Given the description of an element on the screen output the (x, y) to click on. 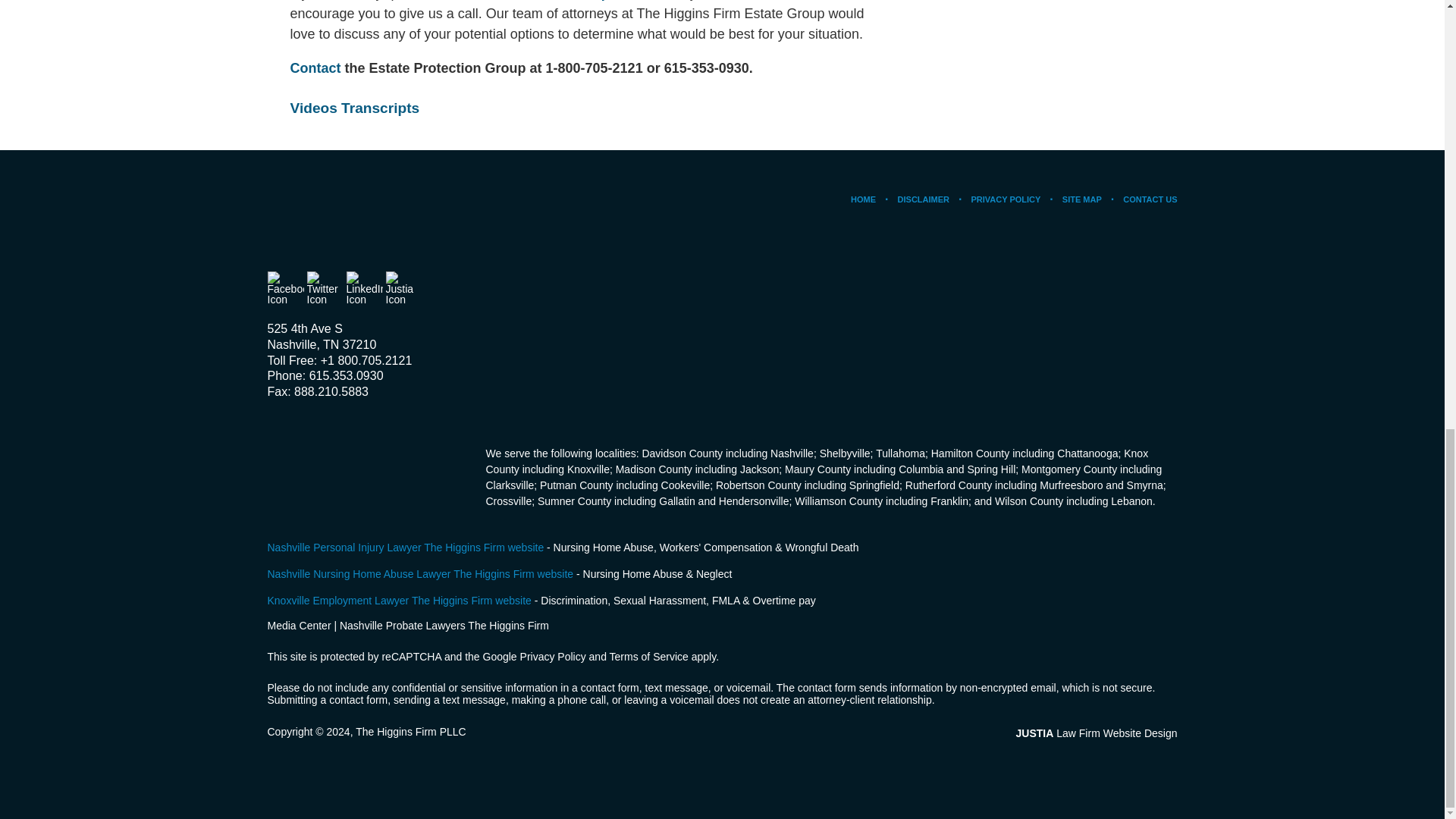
estates (570, 0)
Justia (403, 289)
probate (625, 0)
LinkedIn (363, 289)
Twitter (323, 289)
Videos Transcripts (354, 107)
Contact (314, 68)
Facebook (284, 289)
